Given the description of an element on the screen output the (x, y) to click on. 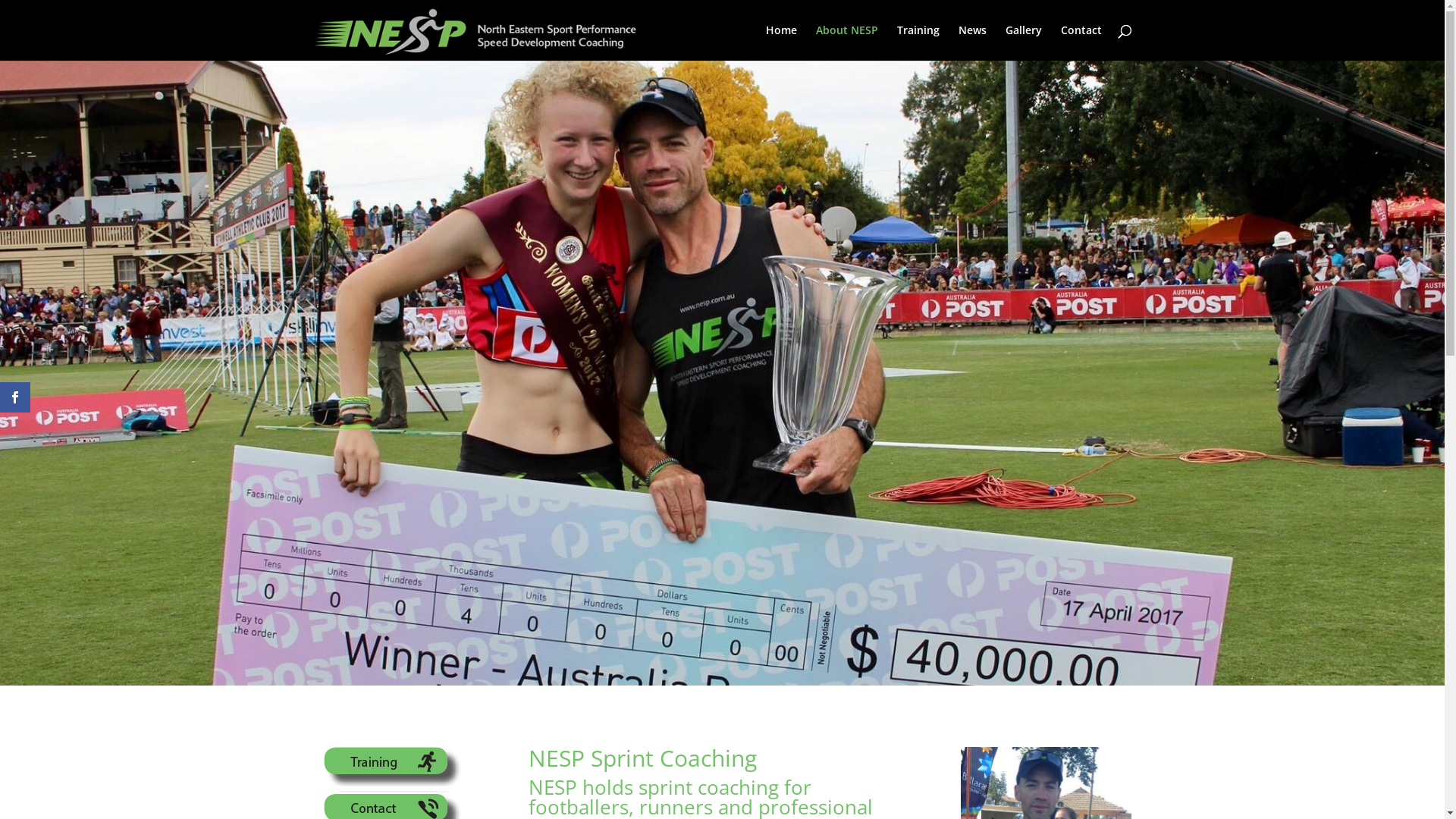
Contact Element type: text (1080, 42)
Training Element type: text (917, 42)
Gallery Element type: text (1023, 42)
News Element type: text (972, 42)
About NESP Element type: text (846, 42)
Home Element type: text (781, 42)
Training Element type: hover (390, 782)
